Given the description of an element on the screen output the (x, y) to click on. 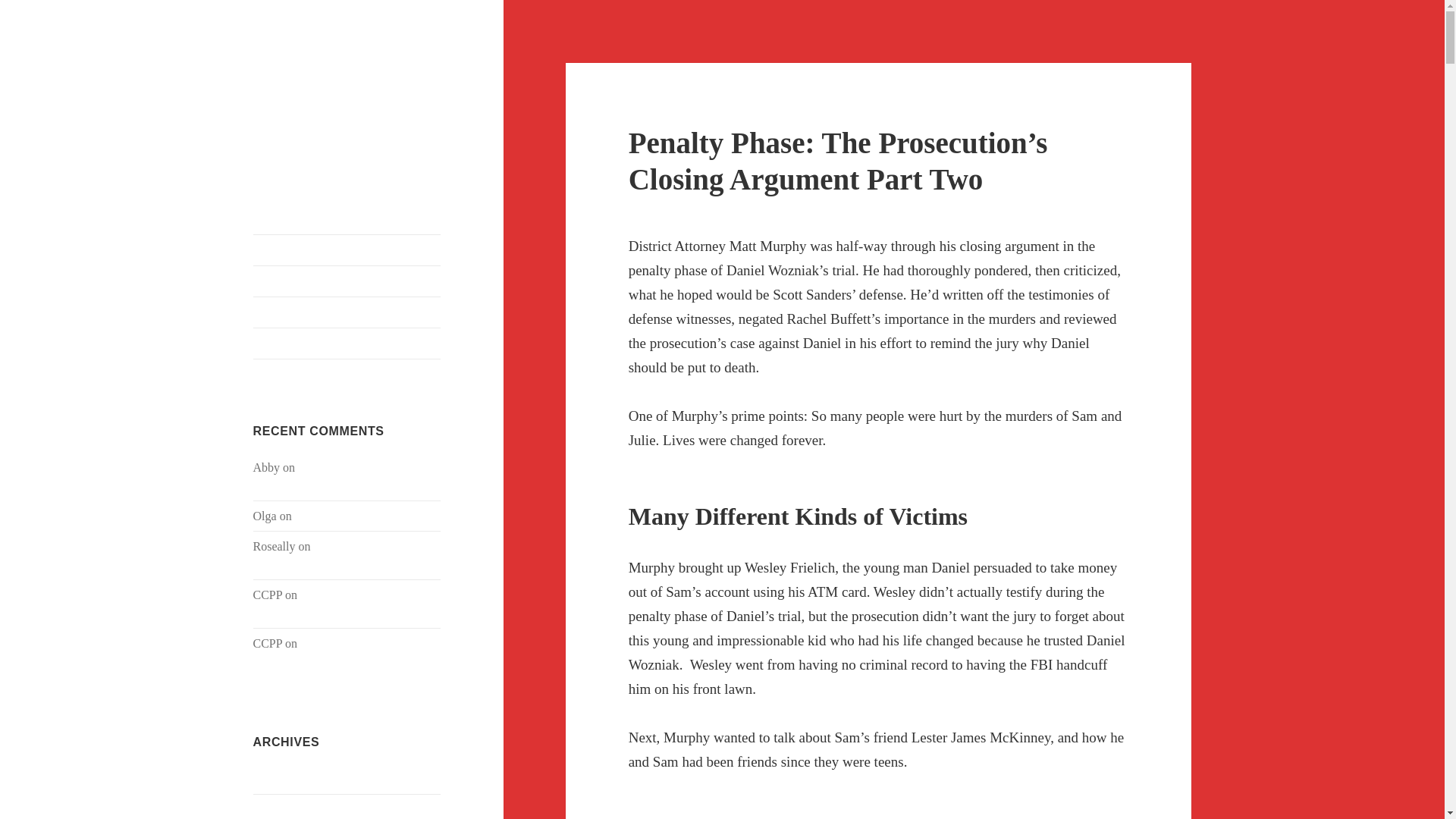
Updates and Some Answers to Questions (344, 603)
September in San Quentin (358, 515)
Daniel Wozniak Is My Friend? (339, 86)
Updates and Some Answers to Questions (344, 652)
February 2024 (288, 778)
Updates and Some Answers to Questions (343, 476)
September in San Quentin (325, 554)
Frequently Asked Questions (347, 281)
Glossary (347, 343)
Start at the Beginning (347, 250)
